Given the description of an element on the screen output the (x, y) to click on. 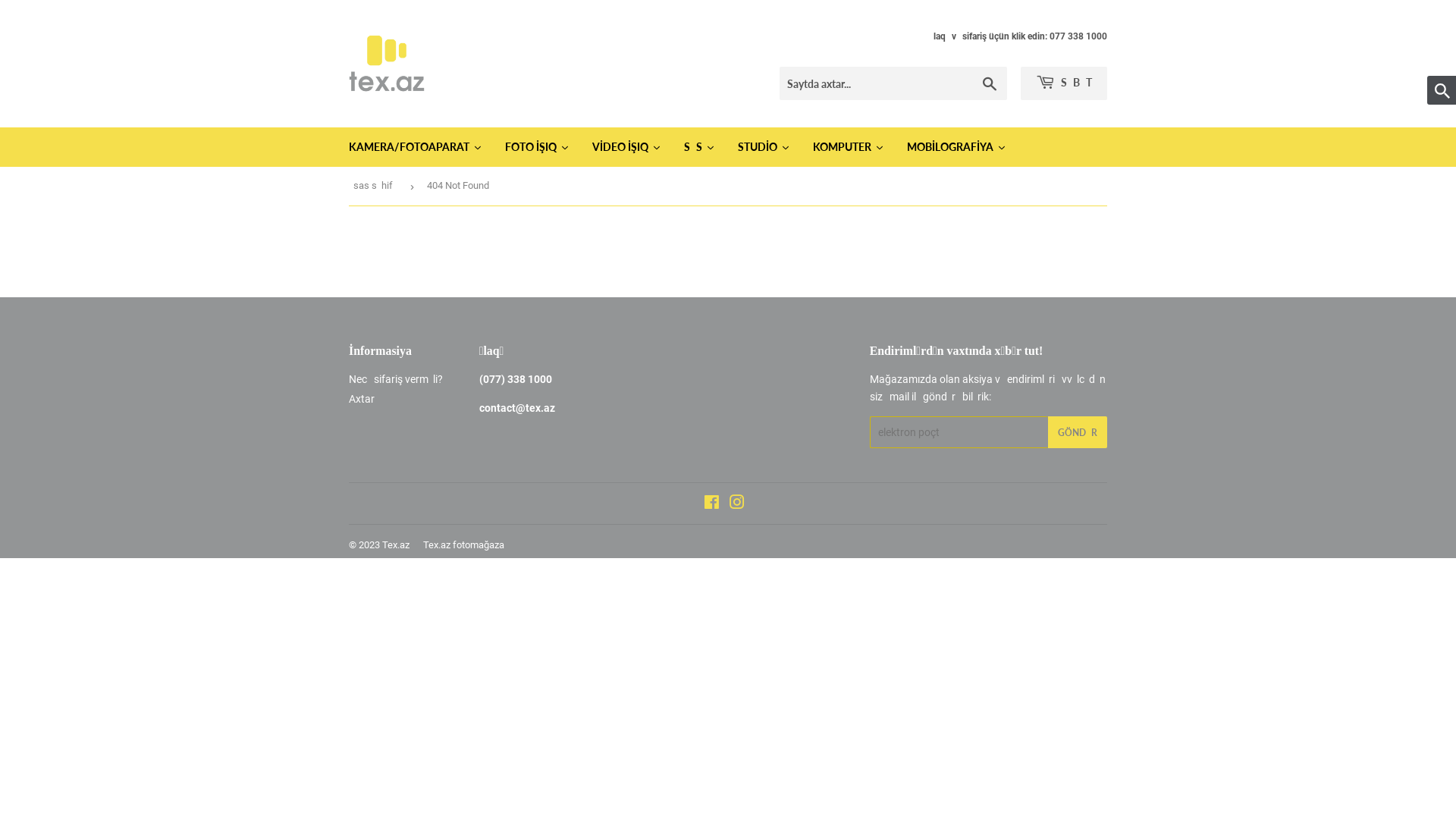
Facebook Element type: text (711, 504)
MOBILOGRAFIYA Element type: text (956, 146)
Instagram Element type: text (736, 504)
STUDIO Element type: text (763, 146)
Axtar Element type: text (361, 398)
Tex.az Element type: text (395, 544)
Axtar Element type: text (989, 84)
KOMPUTER Element type: text (848, 146)
KAMERA/FOTOAPARAT Element type: text (415, 146)
